Given the description of an element on the screen output the (x, y) to click on. 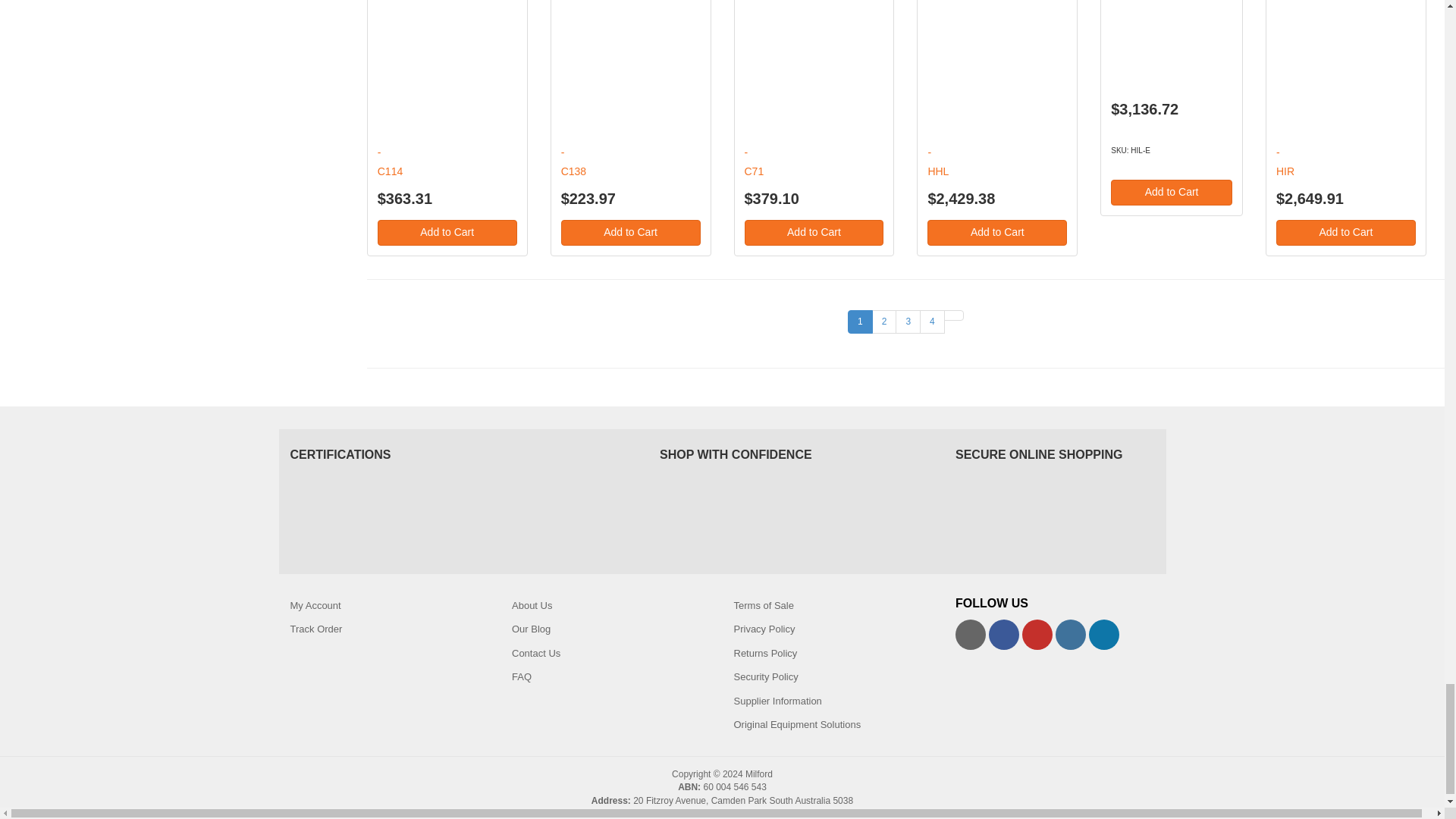
Add  to Cart (997, 232)
Add  to Cart (1170, 192)
Add  to Cart (1345, 232)
Add  to Cart (813, 232)
Add  to Cart (446, 232)
Add  to Cart (630, 232)
Email us (970, 634)
